Given the description of an element on the screen output the (x, y) to click on. 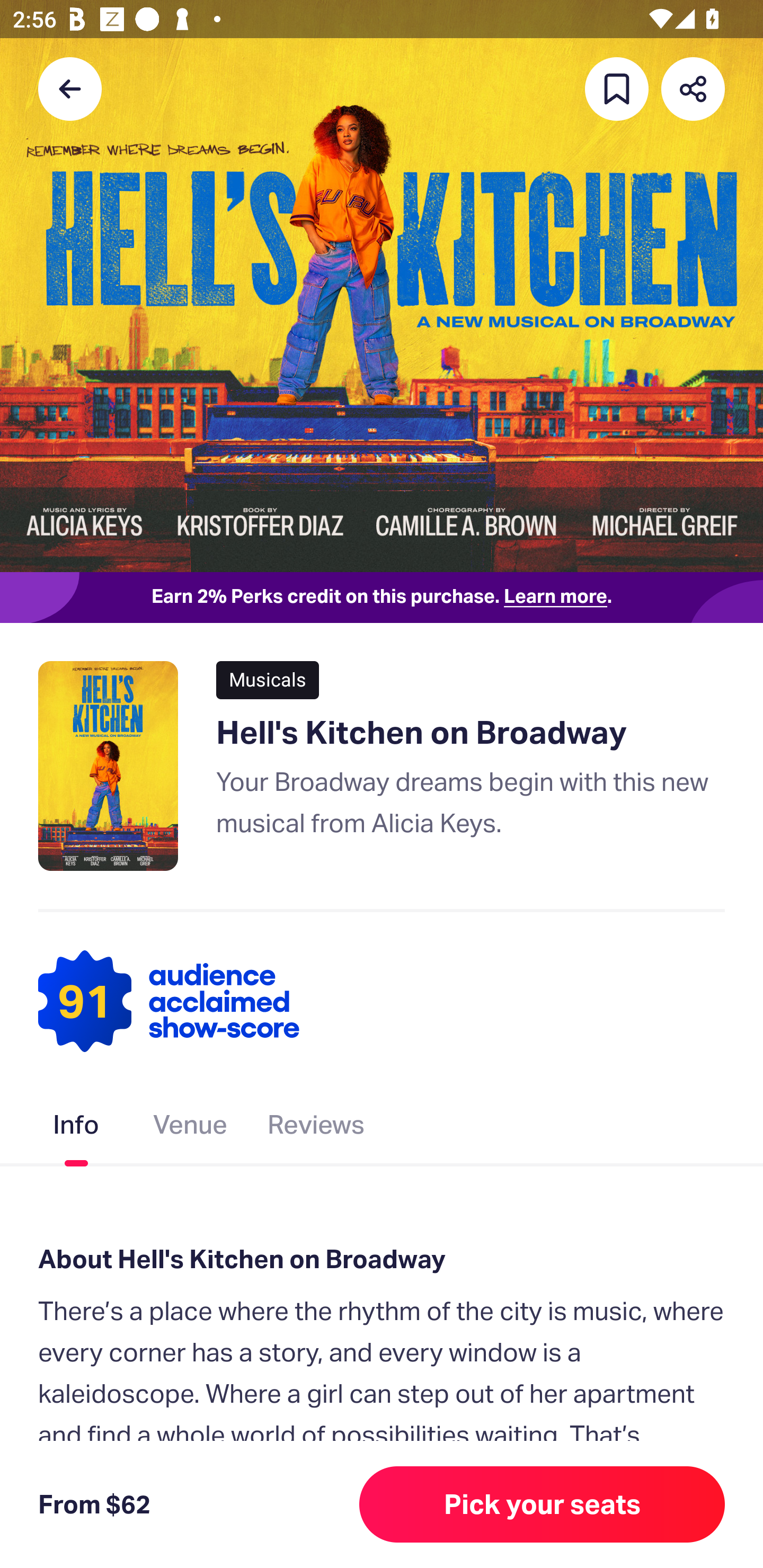
Earn 2% Perks credit on this purchase. Learn more. (381, 597)
Venue (190, 1127)
Reviews (315, 1127)
About Hell's Kitchen on Broadway (381, 1259)
Pick your seats (541, 1504)
